Given the description of an element on the screen output the (x, y) to click on. 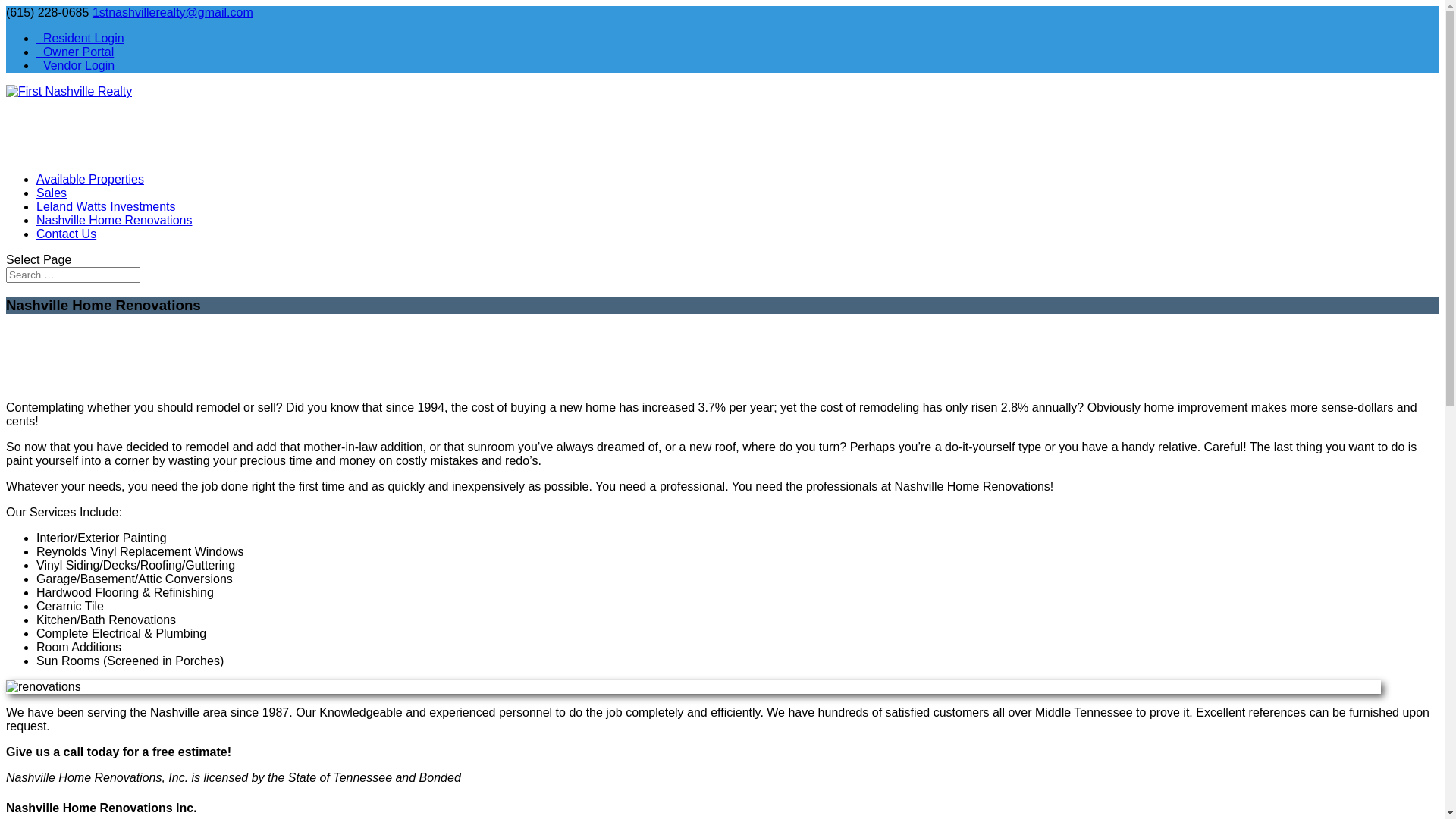
Available Properties Element type: text (90, 185)
1stnashvillerealty@gmail.com Element type: text (172, 12)
Sales Element type: text (51, 199)
  Owner Portal Element type: text (74, 51)
Search for: Element type: hover (73, 274)
Nashville Home Renovations Element type: text (113, 226)
  Vendor Login Element type: text (75, 65)
  Resident Login Element type: text (80, 37)
Contact Us Element type: text (66, 240)
Leland Watts Investments Element type: text (105, 213)
